Given the description of an element on the screen output the (x, y) to click on. 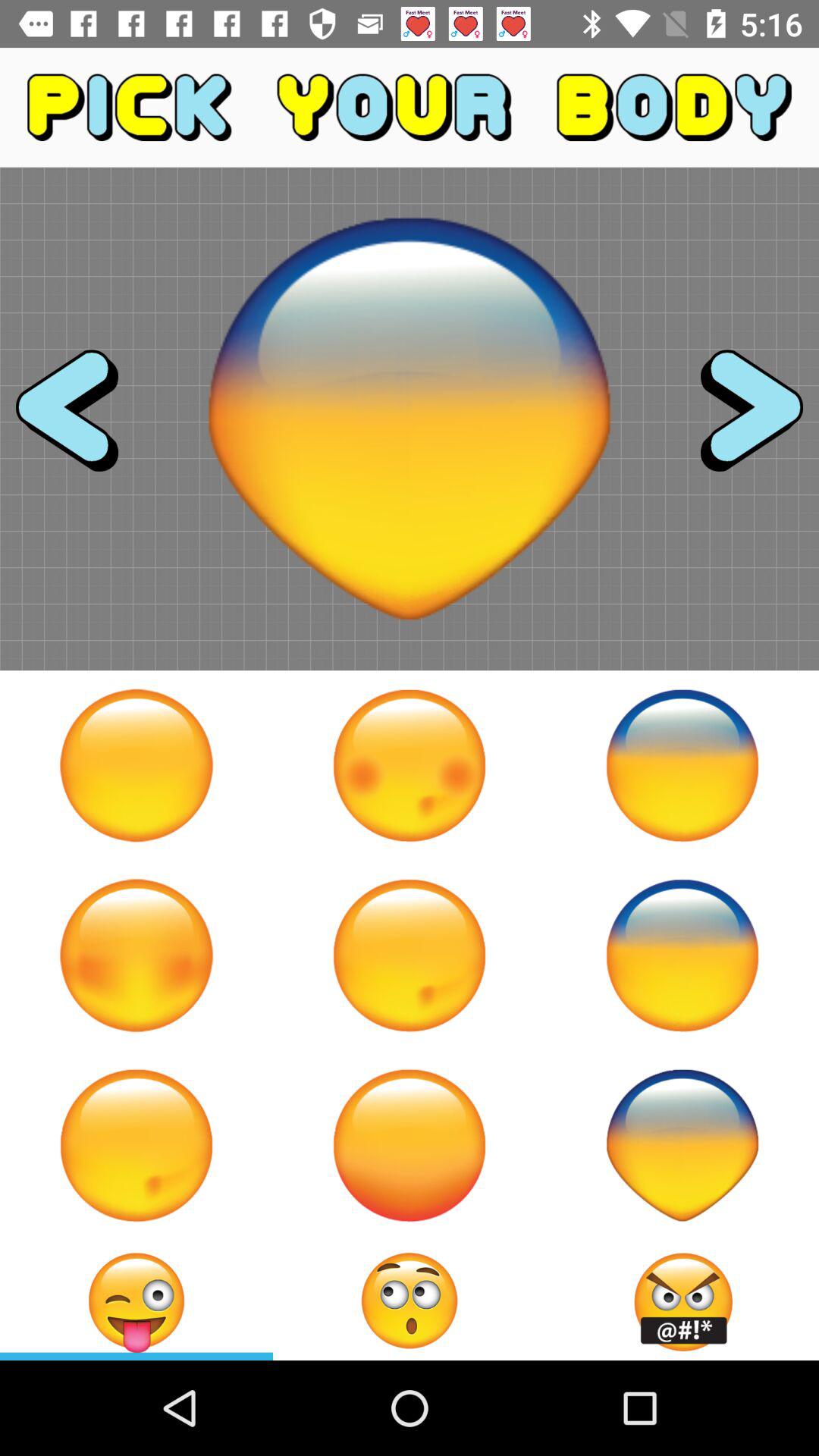
select the emoji (682, 955)
